Given the description of an element on the screen output the (x, y) to click on. 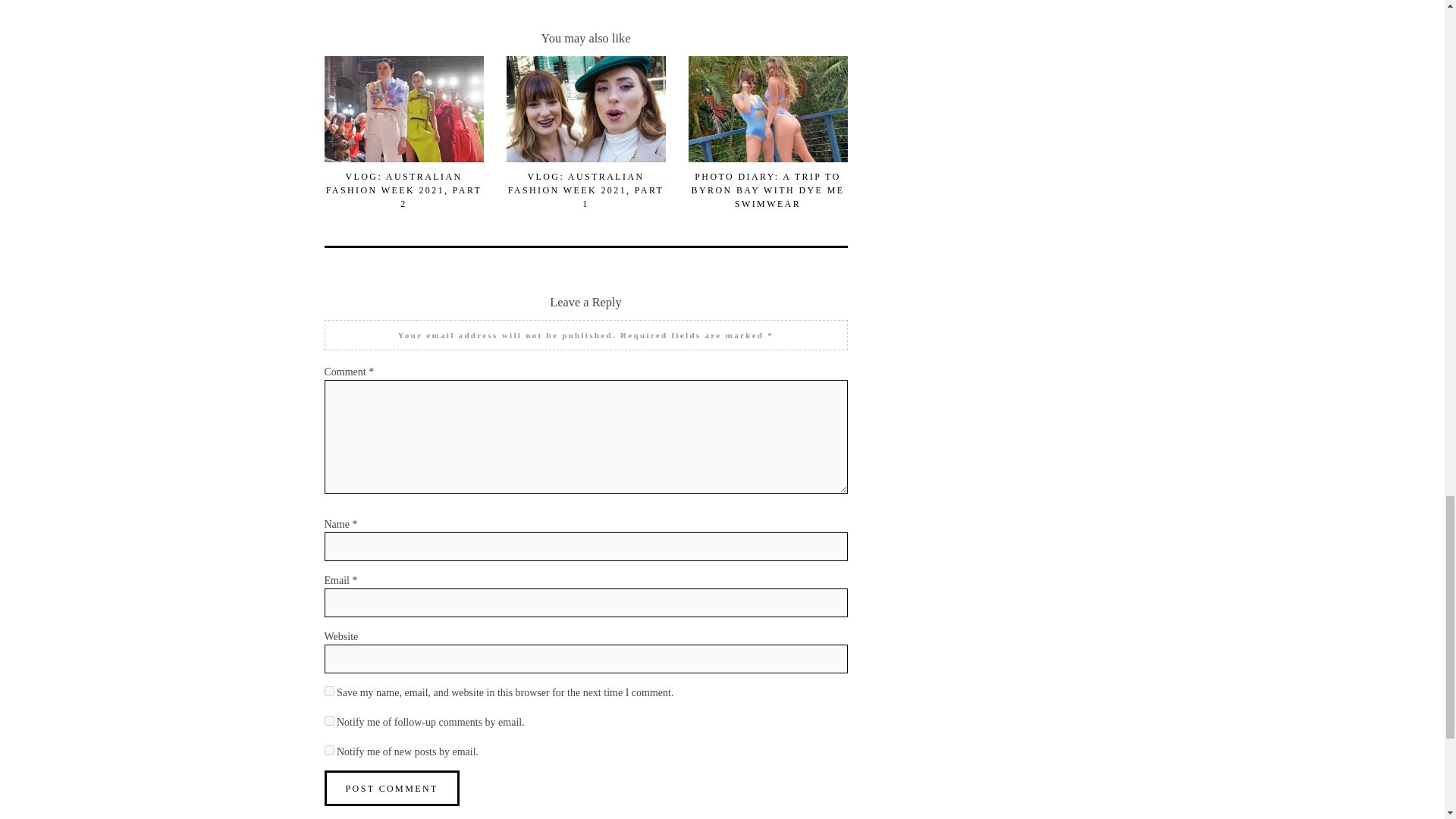
subscribe (329, 720)
subscribe (329, 749)
yes (329, 690)
Post Comment (392, 787)
